Given the description of an element on the screen output the (x, y) to click on. 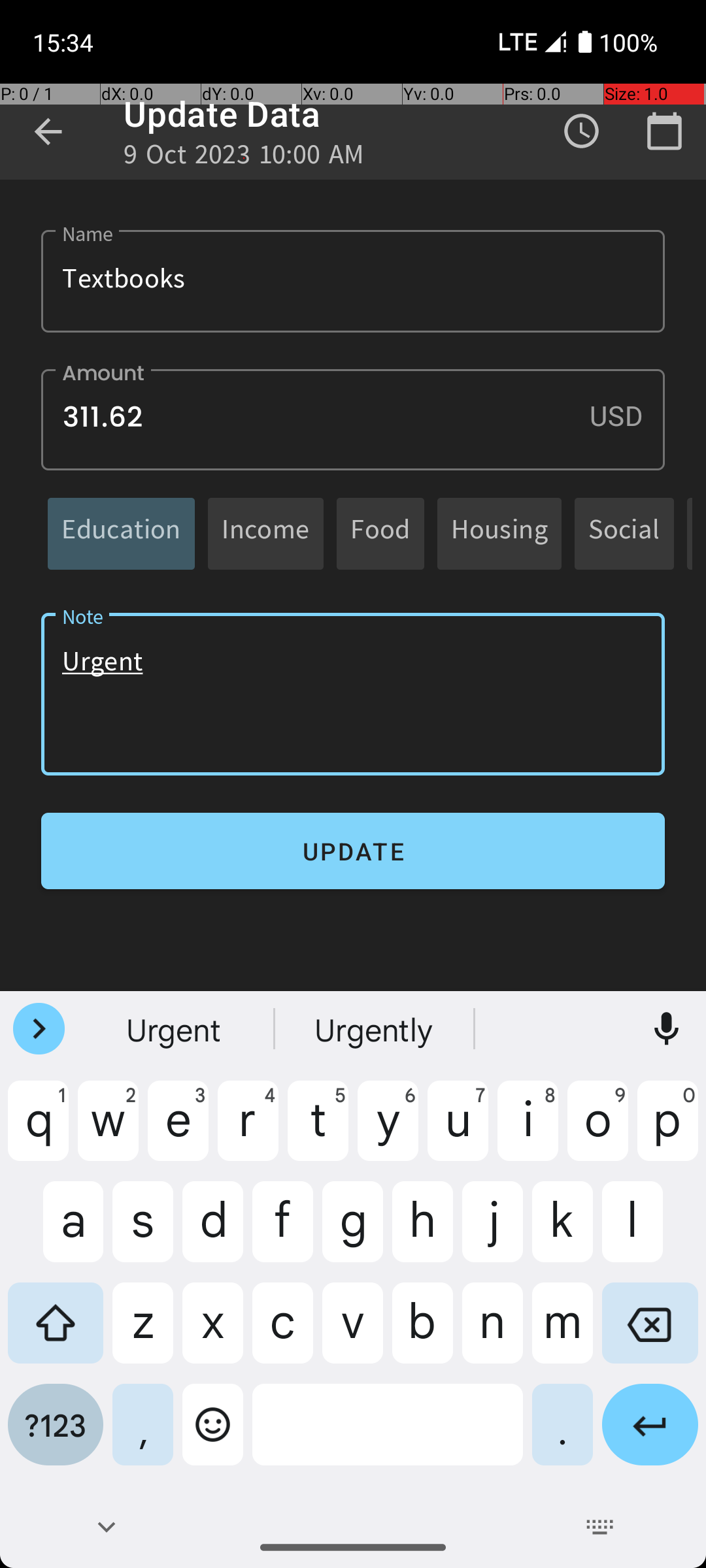
9 Oct 2023 10:00 AM Element type: android.widget.TextView (243, 157)
Textbooks Element type: android.widget.EditText (352, 280)
311.62 Element type: android.widget.EditText (352, 419)
Education Element type: android.widget.TextView (121, 533)
Urgently Element type: android.widget.FrameLayout (375, 1028)
